Given the description of an element on the screen output the (x, y) to click on. 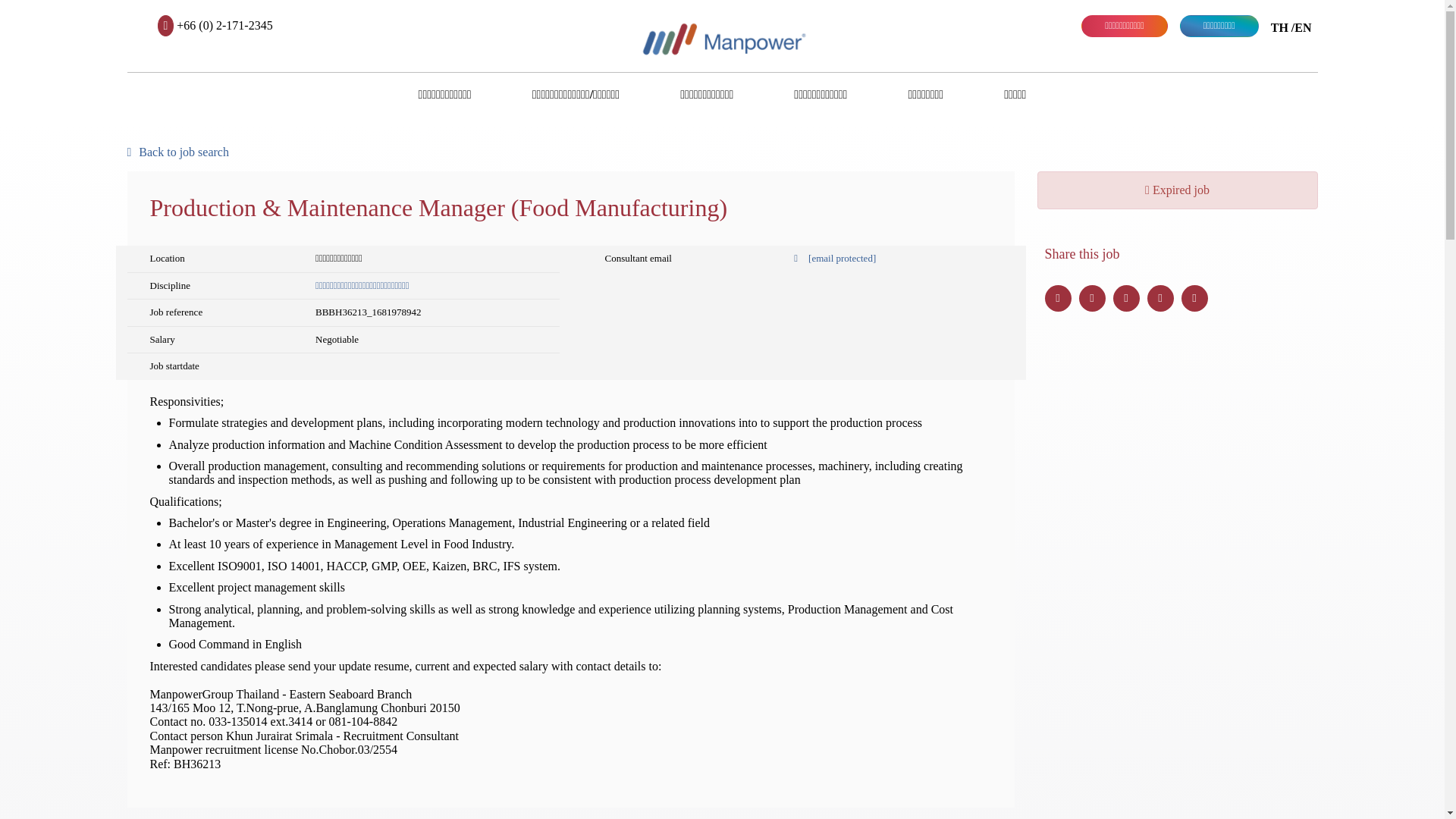
Tweet this (1058, 298)
Email (1160, 298)
share on Facebook (1091, 298)
send in Whatsapp (1194, 298)
share on LinkedIn (1126, 298)
Go to the Homepage (721, 38)
EN (1302, 28)
